Given the description of an element on the screen output the (x, y) to click on. 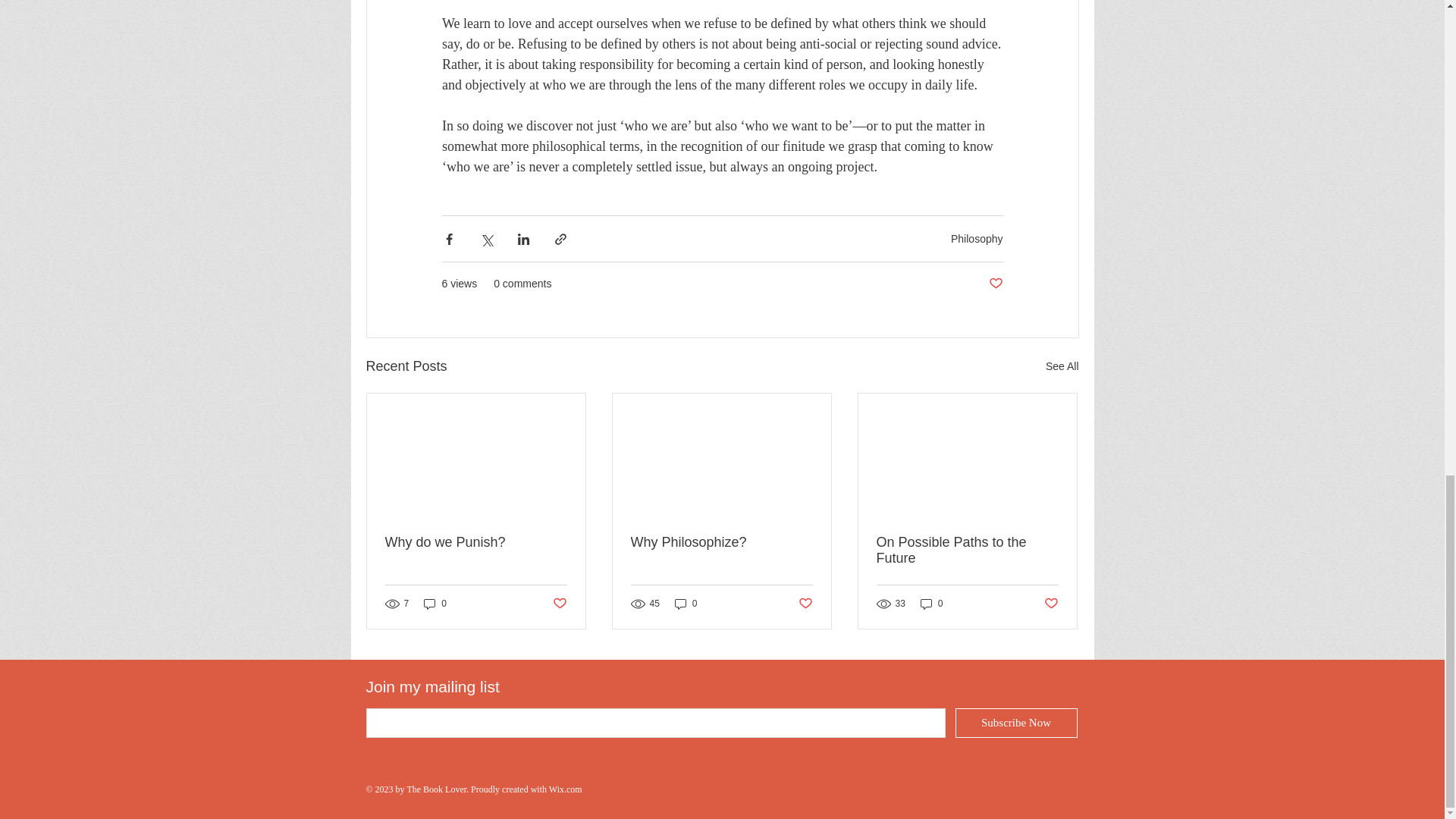
Post not marked as liked (558, 602)
Post not marked as liked (804, 602)
0 (931, 603)
Subscribe Now (1016, 722)
Wix.com (565, 788)
Post not marked as liked (1050, 602)
Philosophy (976, 238)
See All (1061, 366)
Post not marked as liked (995, 283)
On Possible Paths to the Future (967, 550)
Why do we Punish? (476, 542)
0 (685, 603)
0 (435, 603)
Why Philosophize? (721, 542)
